Given the description of an element on the screen output the (x, y) to click on. 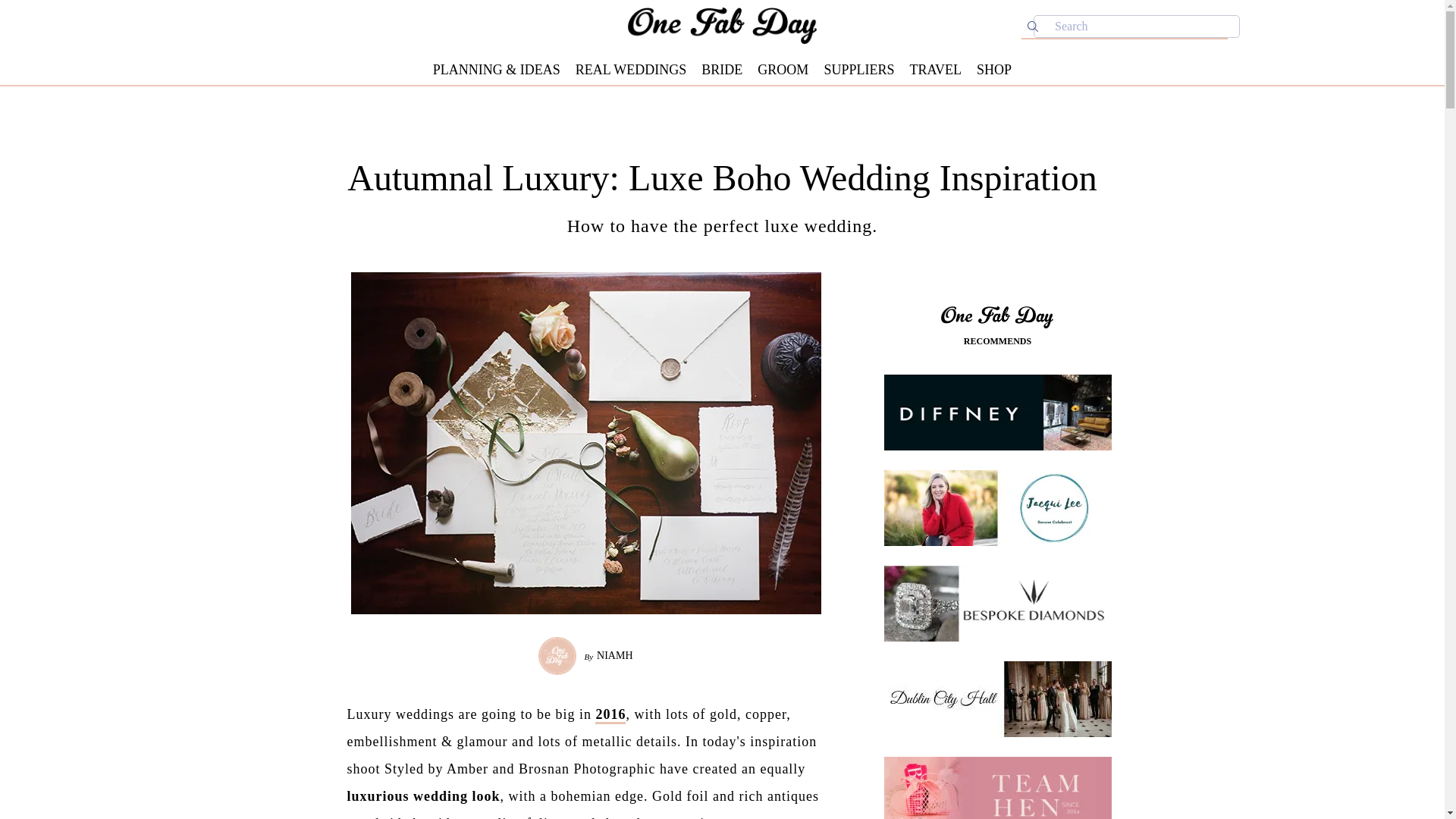
2015 wedding trends (610, 714)
REAL WEDDINGS (630, 70)
Submit the search query (1033, 26)
